Given the description of an element on the screen output the (x, y) to click on. 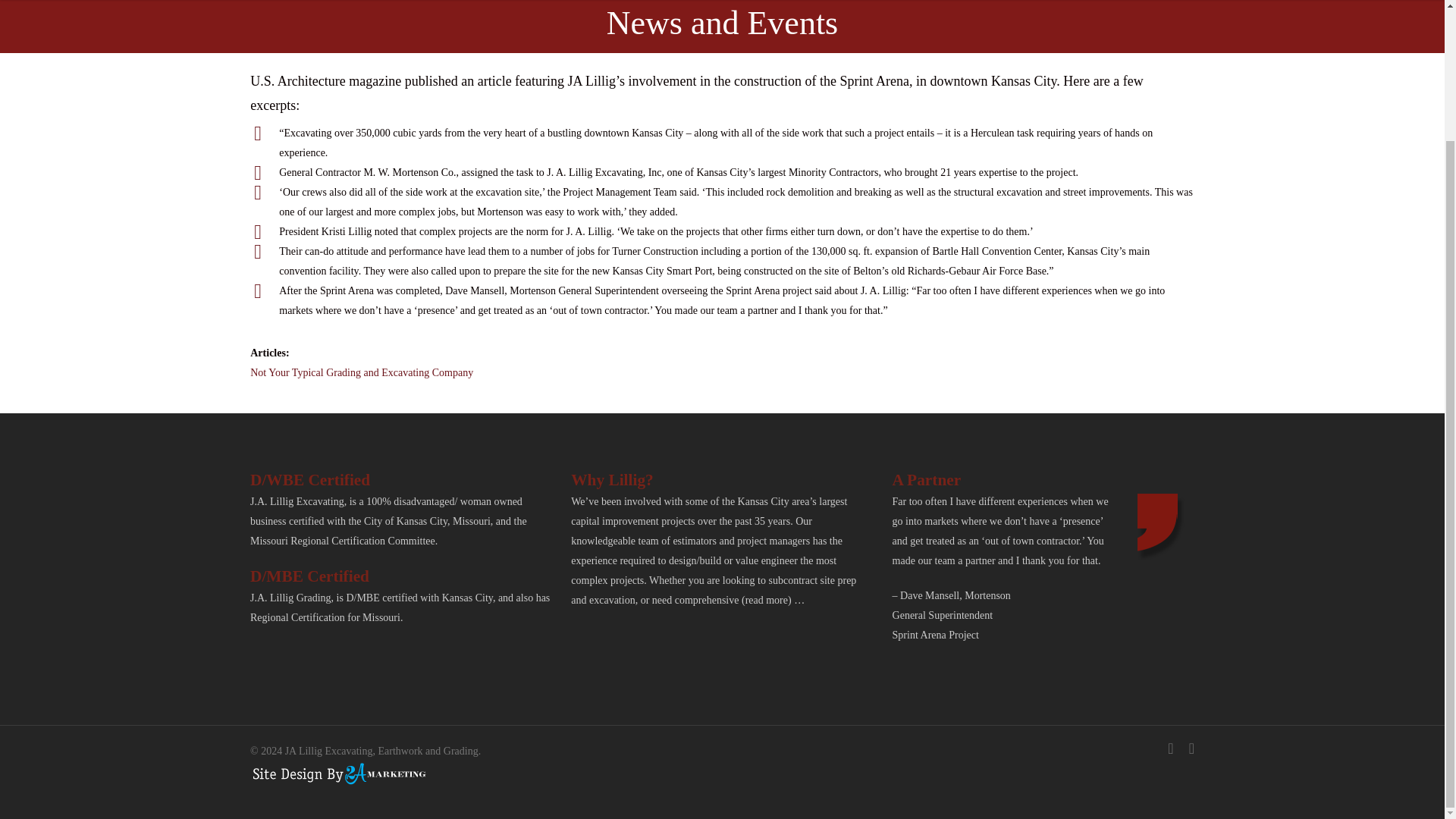
Not Your Typical Grading and Excavating Company (361, 372)
Lillig Story (361, 372)
